Given the description of an element on the screen output the (x, y) to click on. 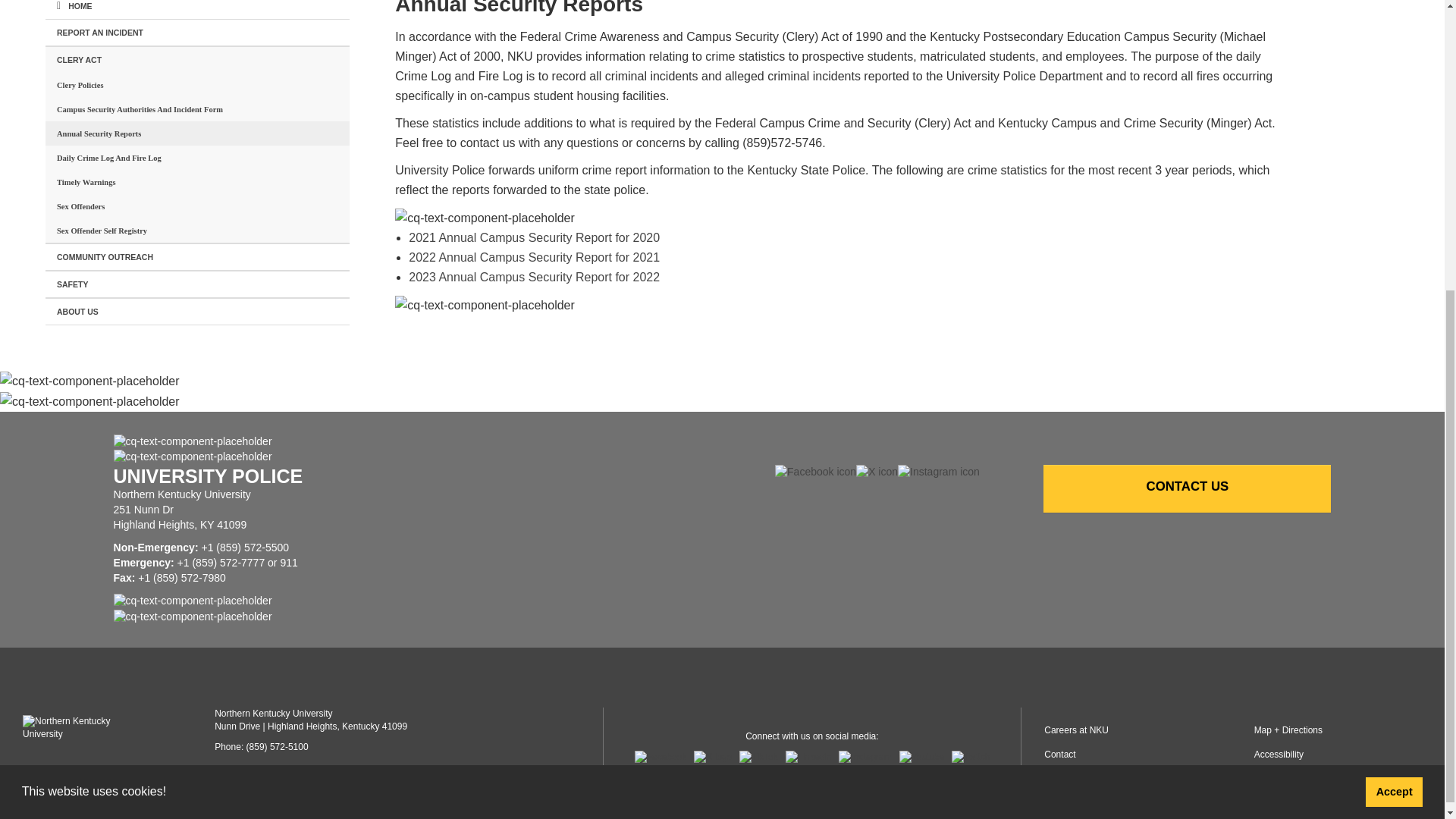
REPORT AN INCIDENT (197, 32)
HOME (197, 9)
Accept (1393, 344)
Sex Offender Self Registry (197, 230)
Campus Security Authorities and Incident Form (197, 109)
Campus Security Authorities And Incident Form (197, 109)
Safety (197, 284)
CLERY ACT (197, 59)
Annual Security Reports (197, 133)
Clery Policies (197, 84)
